Given the description of an element on the screen output the (x, y) to click on. 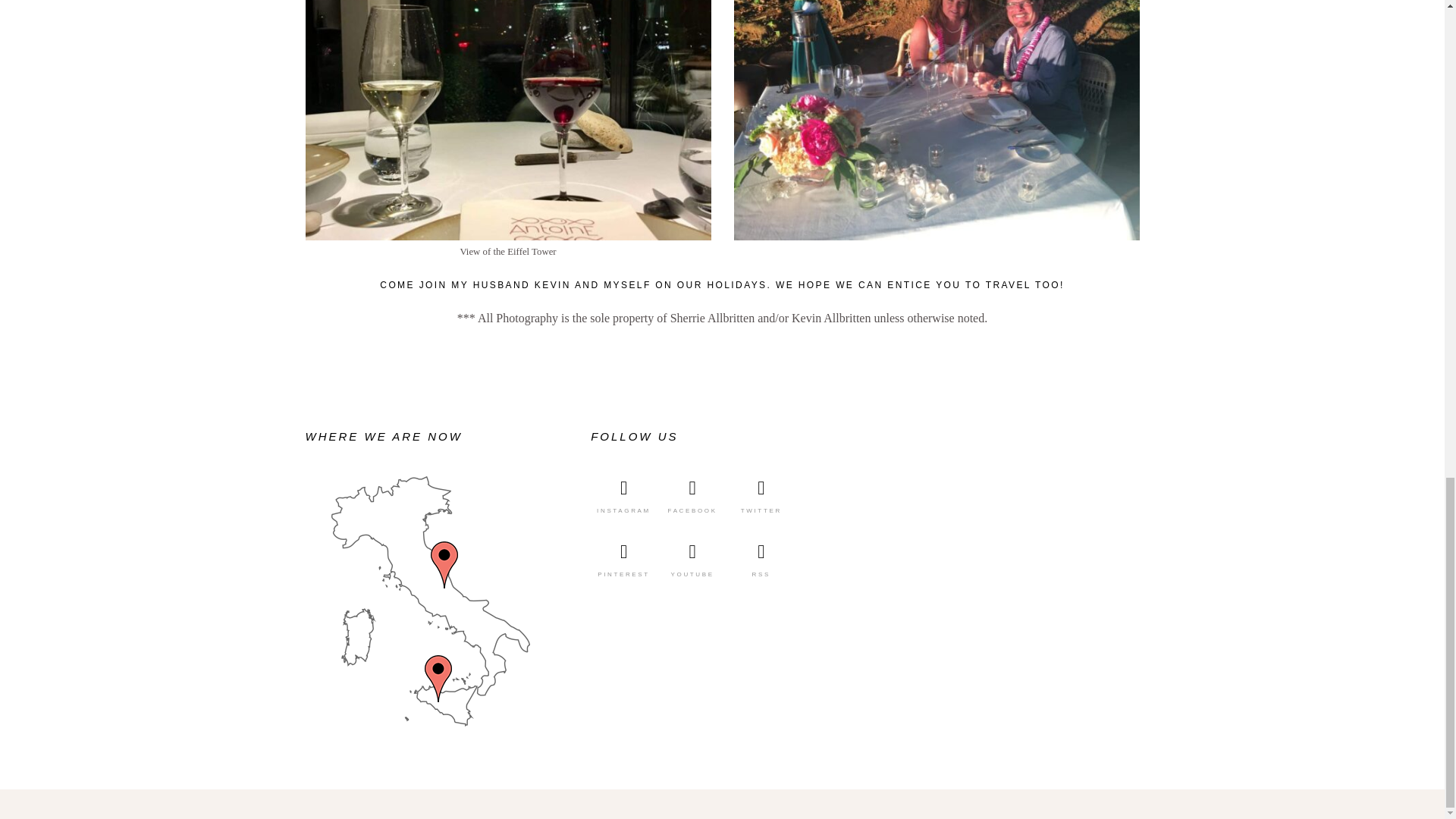
Antoine Paris France (507, 120)
Private Beach Dinner in Kauai (936, 120)
